Given the description of an element on the screen output the (x, y) to click on. 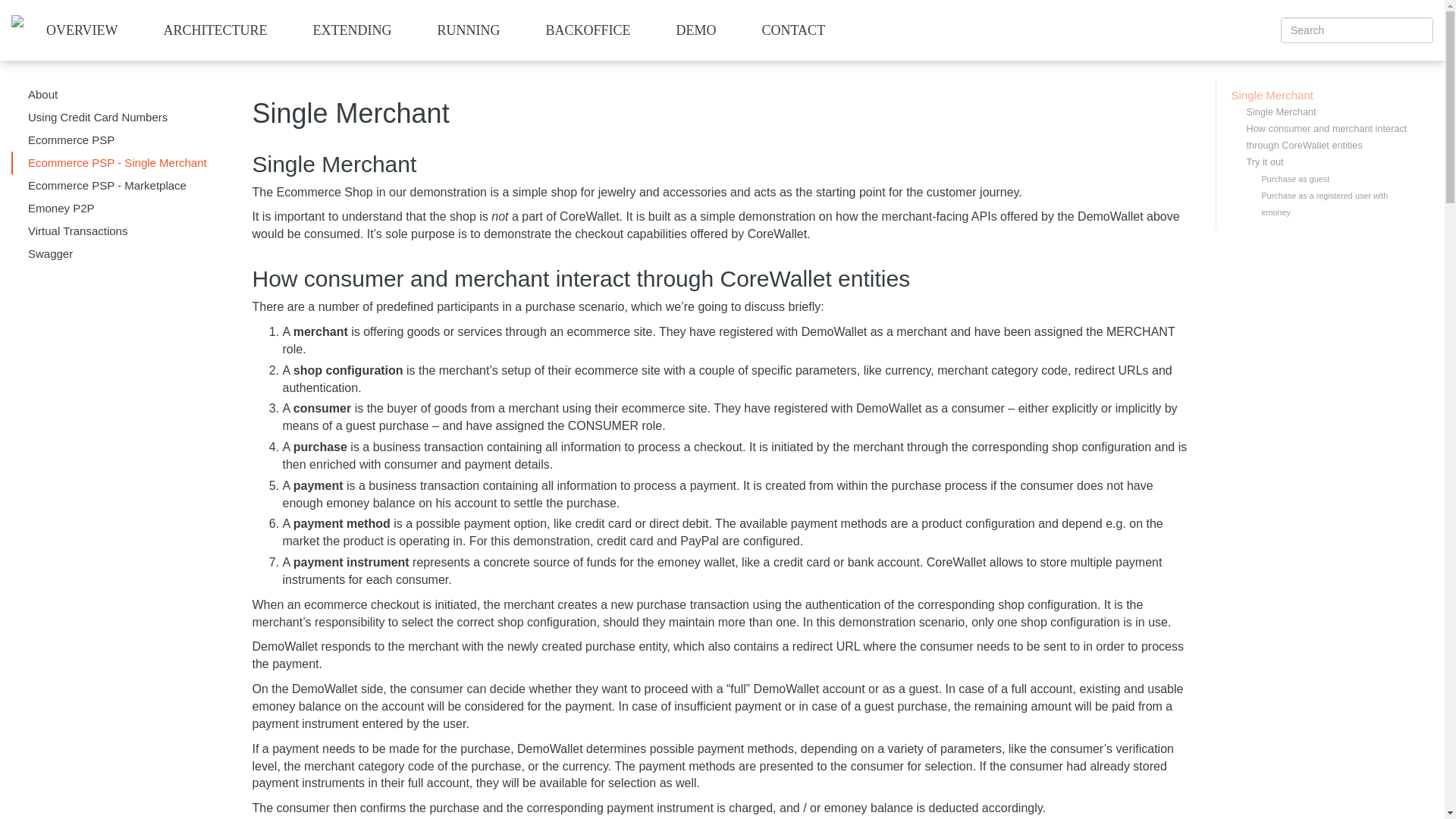
Try it out (1332, 161)
Ecommerce PSP - Marketplace (120, 185)
Single Merchant (1324, 95)
EXTENDING (351, 30)
Ecommerce PSP - Single Merchant (120, 162)
Ecommerce PSP (120, 139)
Purchase as guest (1340, 178)
ARCHITECTURE (215, 30)
CONTACT (793, 30)
